Given the description of an element on the screen output the (x, y) to click on. 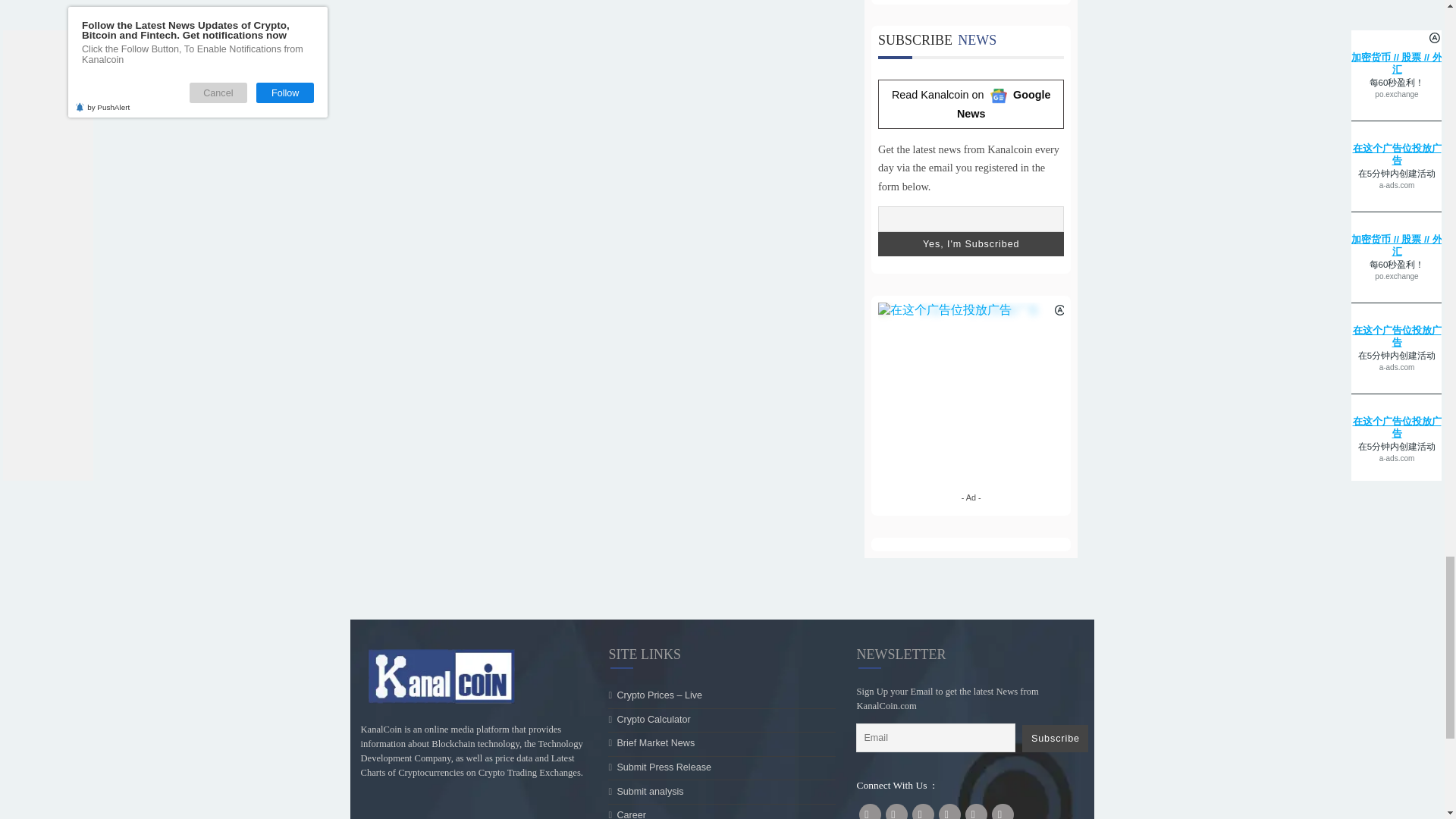
Yes, I'm Subscribed (1078, 543)
